Given the description of an element on the screen output the (x, y) to click on. 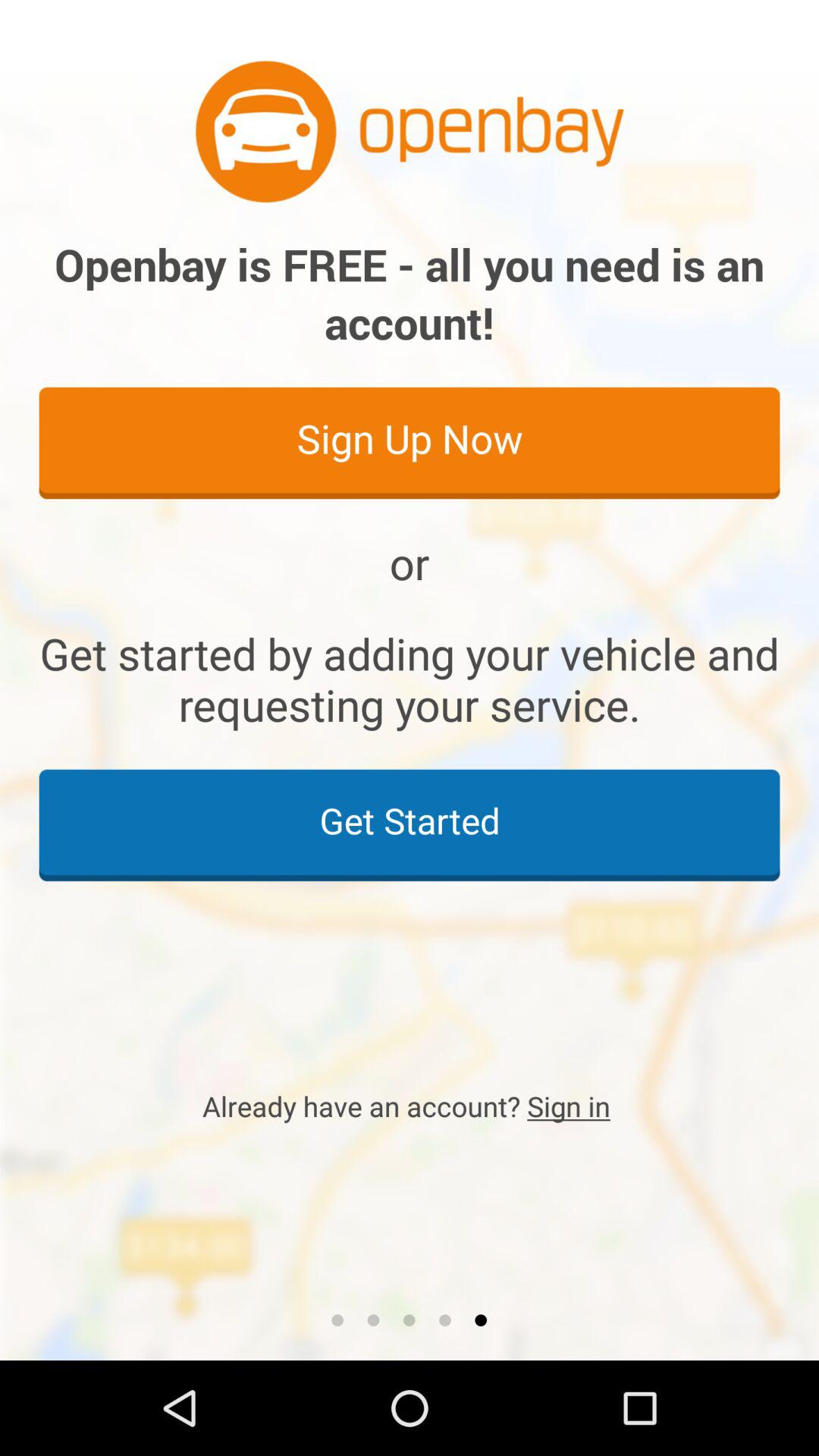
swipe to sign up now (409, 442)
